Given the description of an element on the screen output the (x, y) to click on. 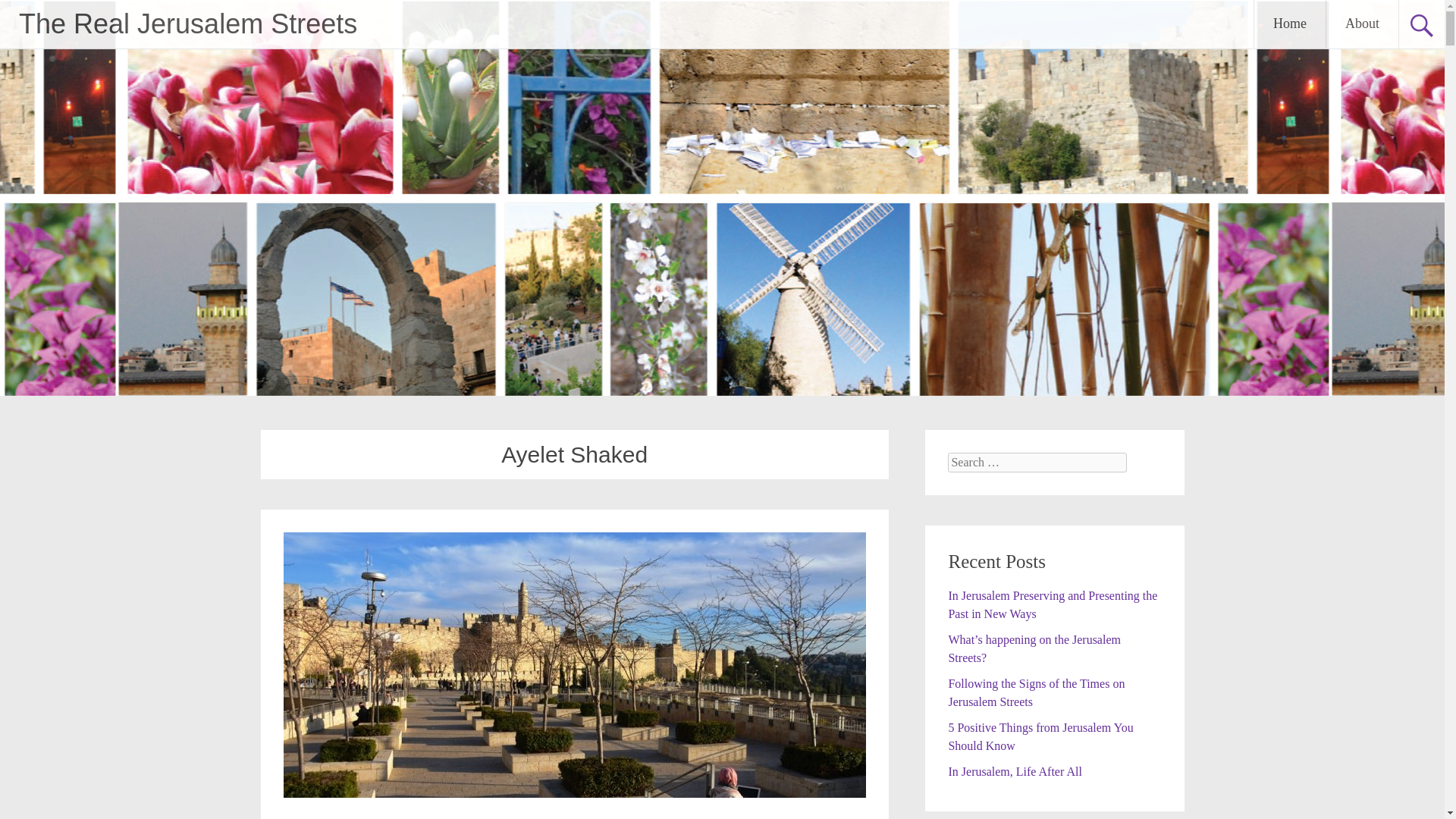
Home (1288, 23)
The Real Jerusalem Streets (187, 23)
9 New Photos of Arab Israeli Women (574, 793)
The Real Jerusalem Streets (187, 23)
About (1361, 23)
